Given the description of an element on the screen output the (x, y) to click on. 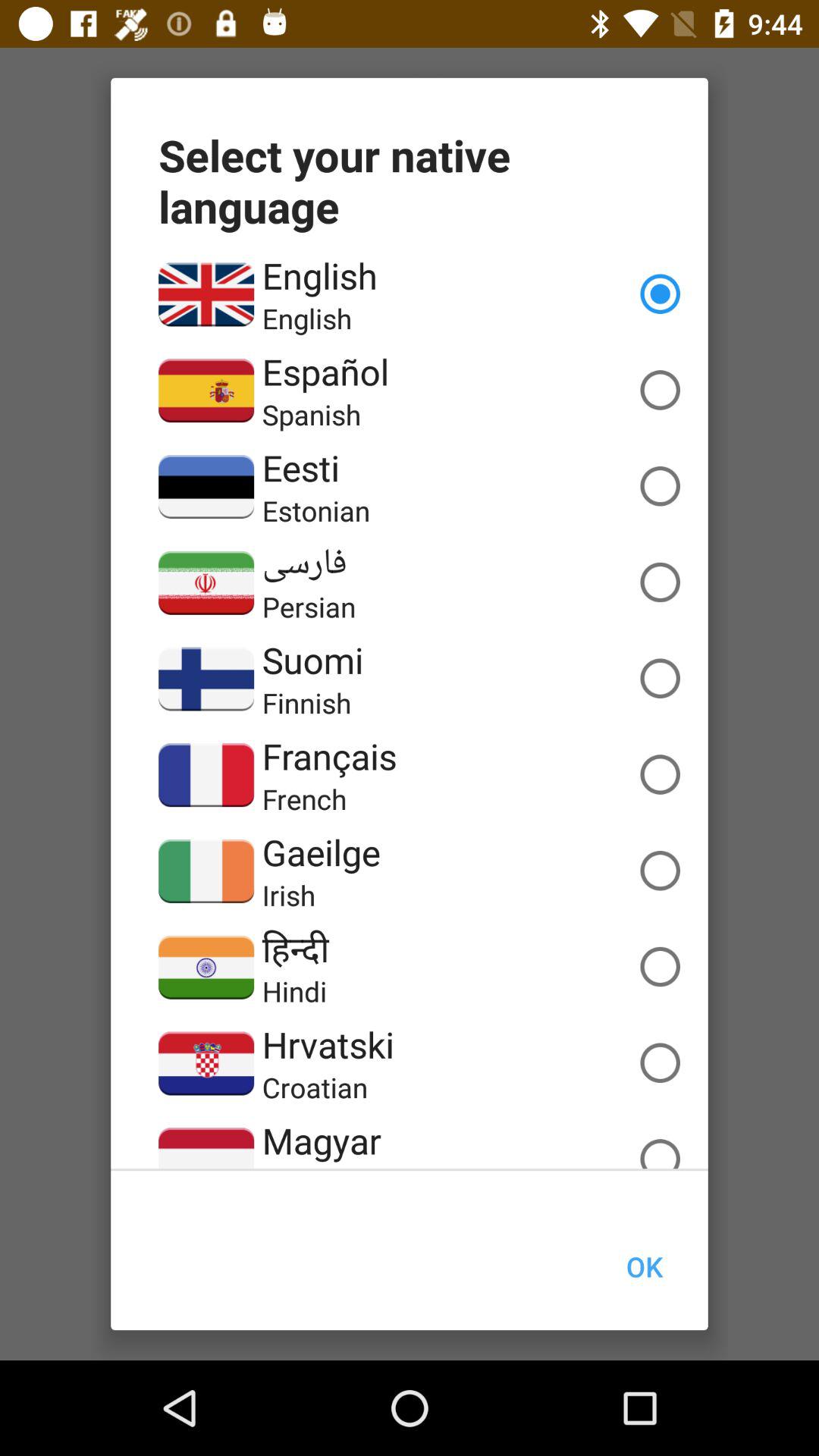
swipe until hungarian app (326, 1166)
